Given the description of an element on the screen output the (x, y) to click on. 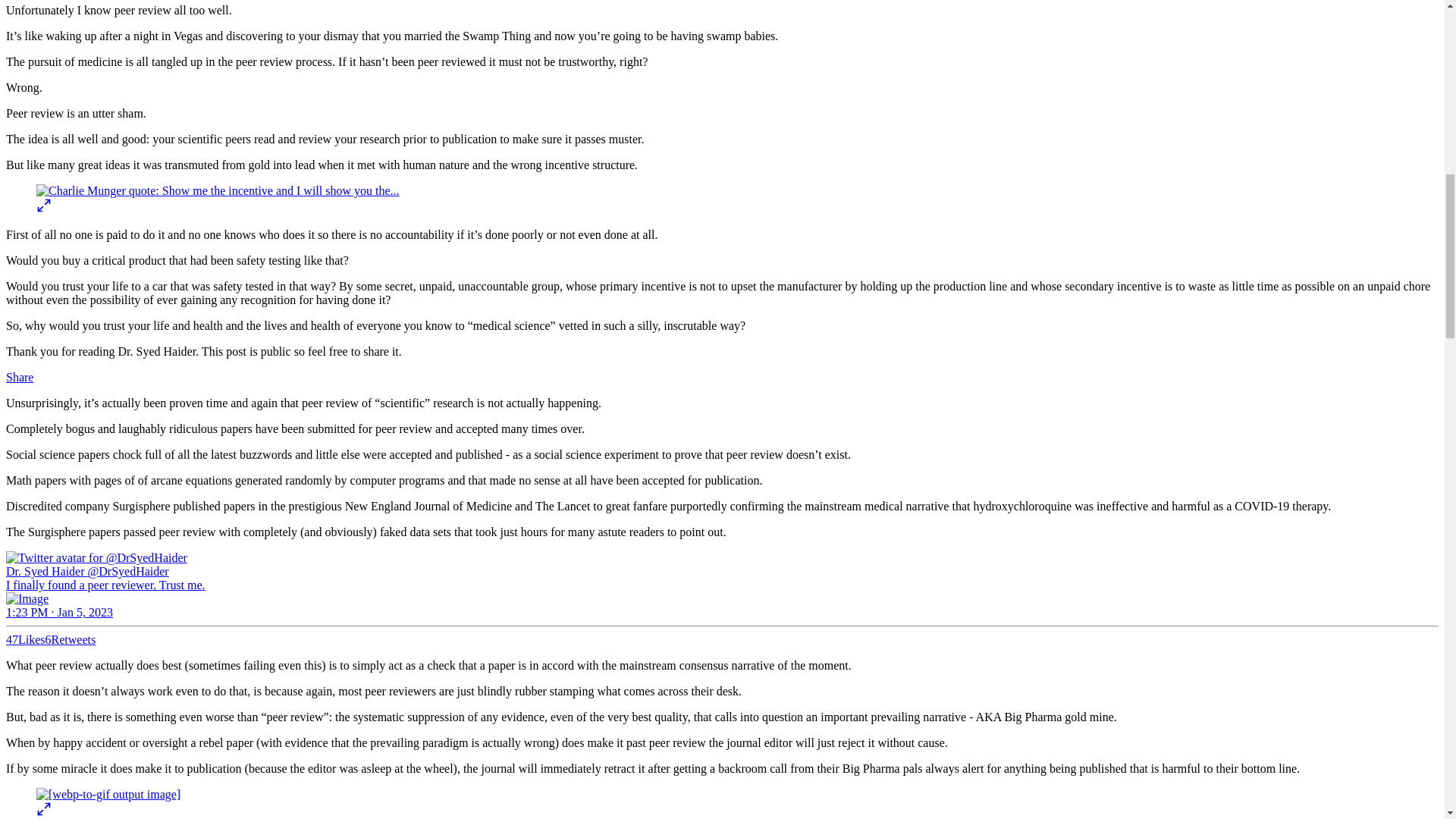
Share (19, 377)
